Given the description of an element on the screen output the (x, y) to click on. 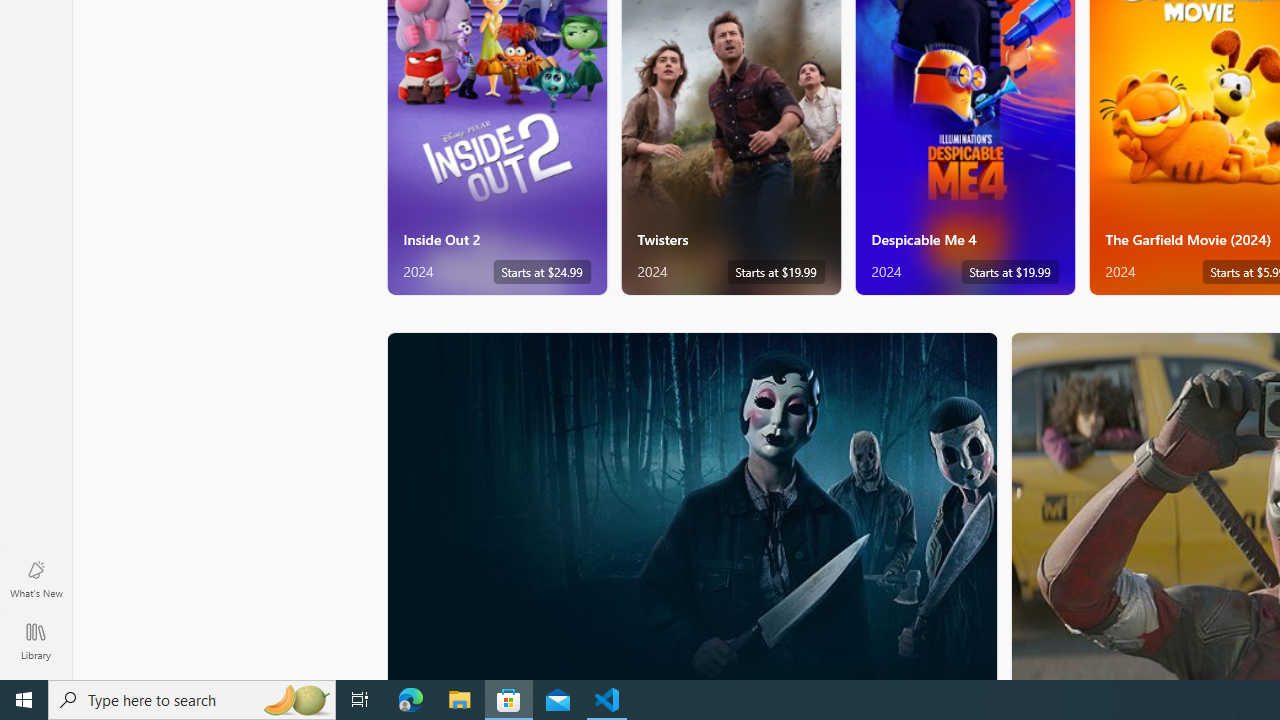
Horror (692, 505)
Library (35, 640)
What's New (35, 578)
AutomationID: PosterImage (690, 505)
